Given the description of an element on the screen output the (x, y) to click on. 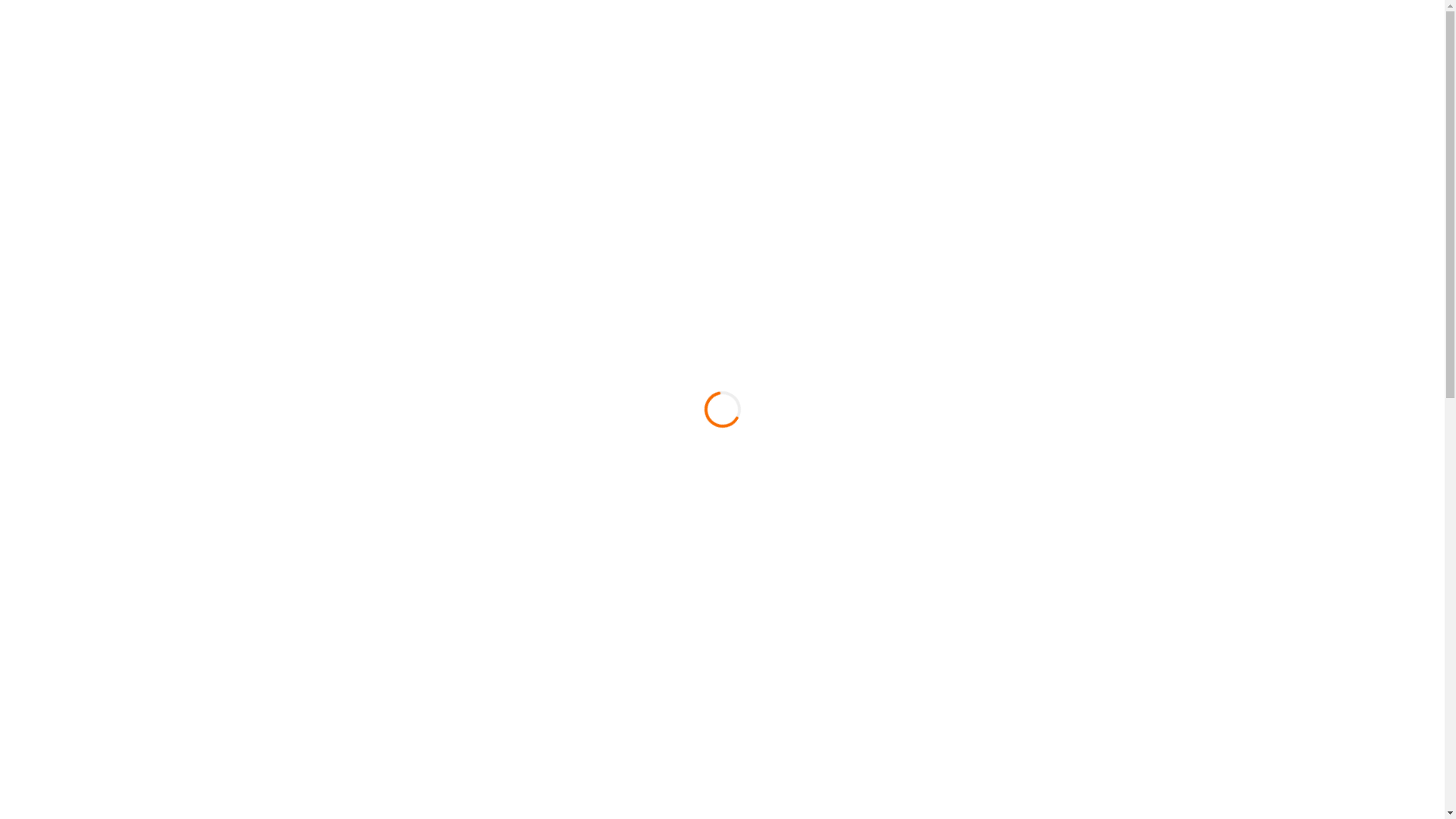
Call 08 9300 0095 Element type: text (1052, 50)
